Given the description of an element on the screen output the (x, y) to click on. 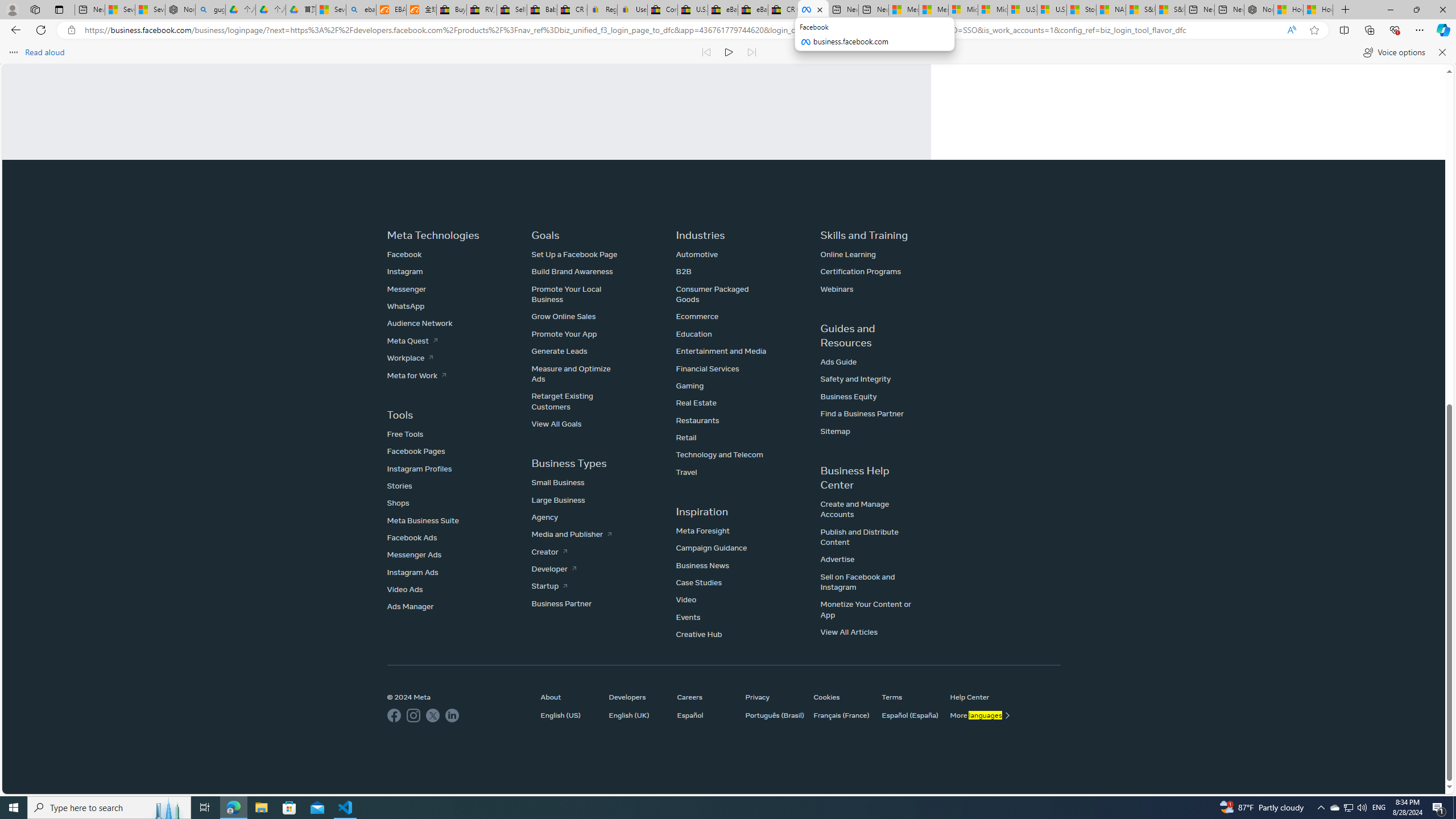
Promote Your Local Business (566, 294)
How to Use a Monitor With Your Closed Laptop (1318, 9)
Creator (548, 551)
Build Brand Awareness (571, 271)
Online Learning (847, 253)
Register: Create a personal eBay account (601, 9)
Certification Programs (860, 271)
Retail (686, 437)
Buy Auto Parts & Accessories | eBay (450, 9)
Events (687, 616)
